Given the description of an element on the screen output the (x, y) to click on. 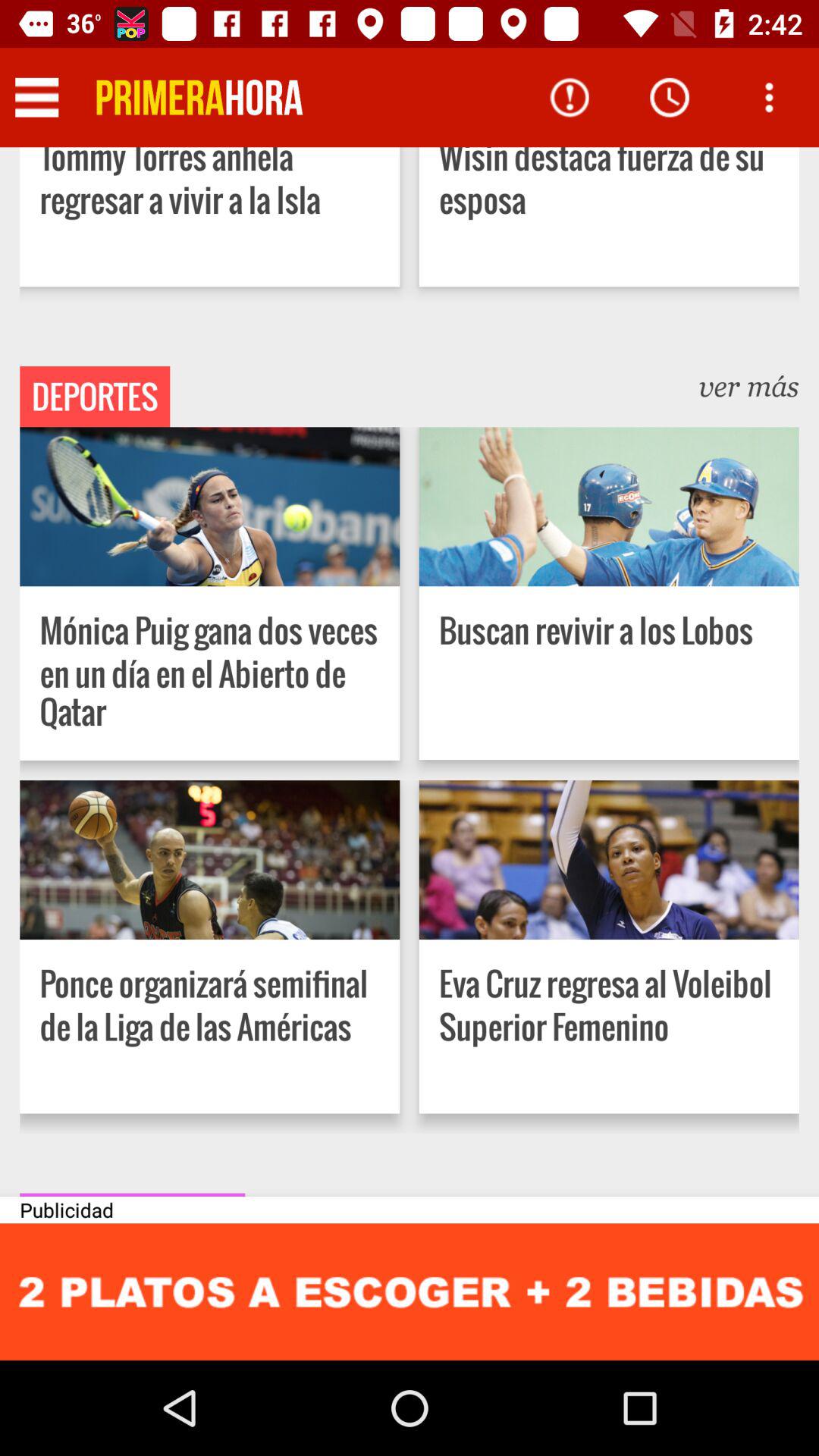
launch deportes item (94, 396)
